Given the description of an element on the screen output the (x, y) to click on. 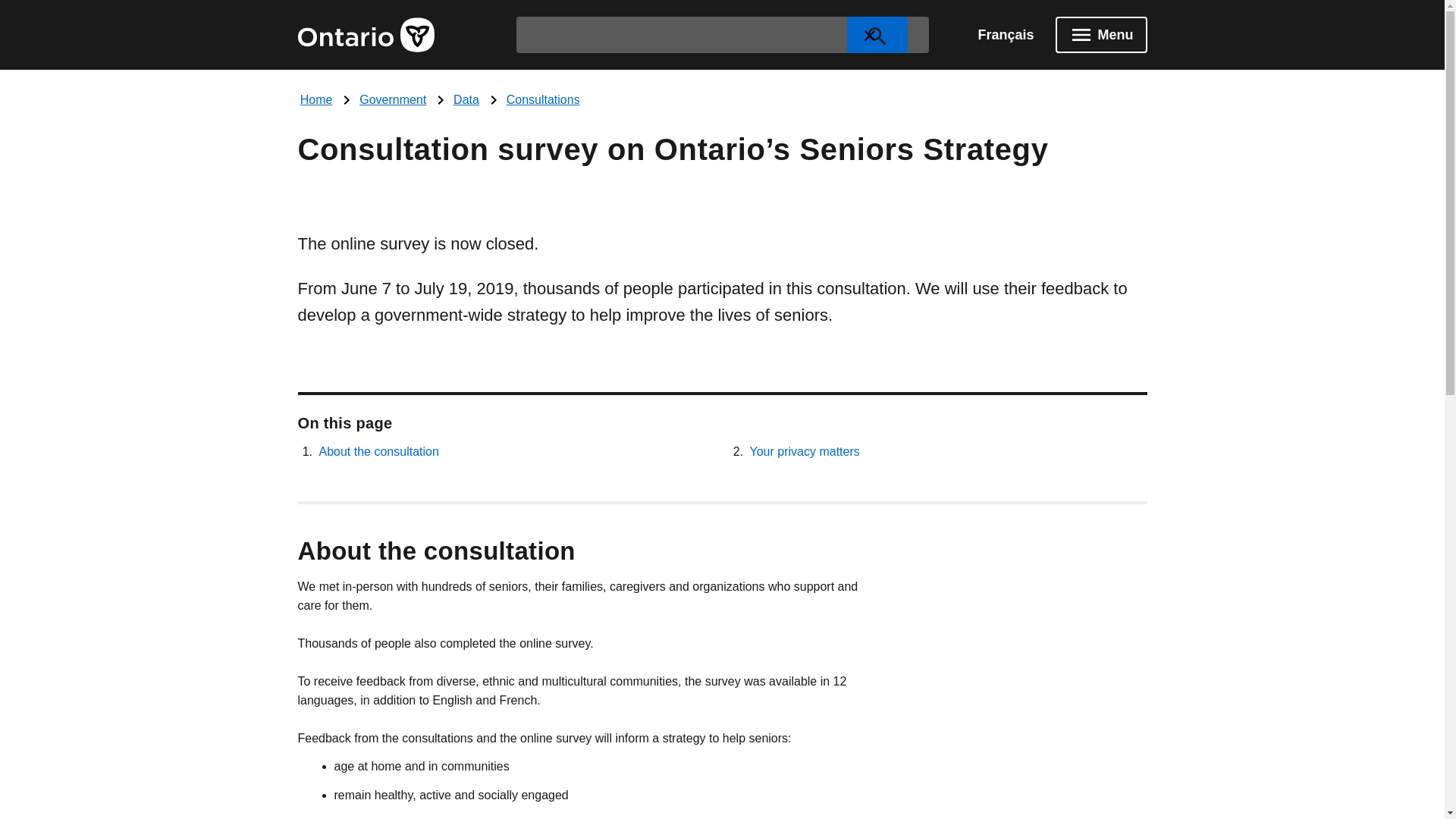
Data (465, 99)
Search (876, 34)
Menu (1101, 34)
Government (392, 99)
Your privacy matters (804, 451)
Ontario.ca homepage (365, 34)
Consultations (542, 99)
Home (316, 99)
About the consultation (378, 451)
